Given the description of an element on the screen output the (x, y) to click on. 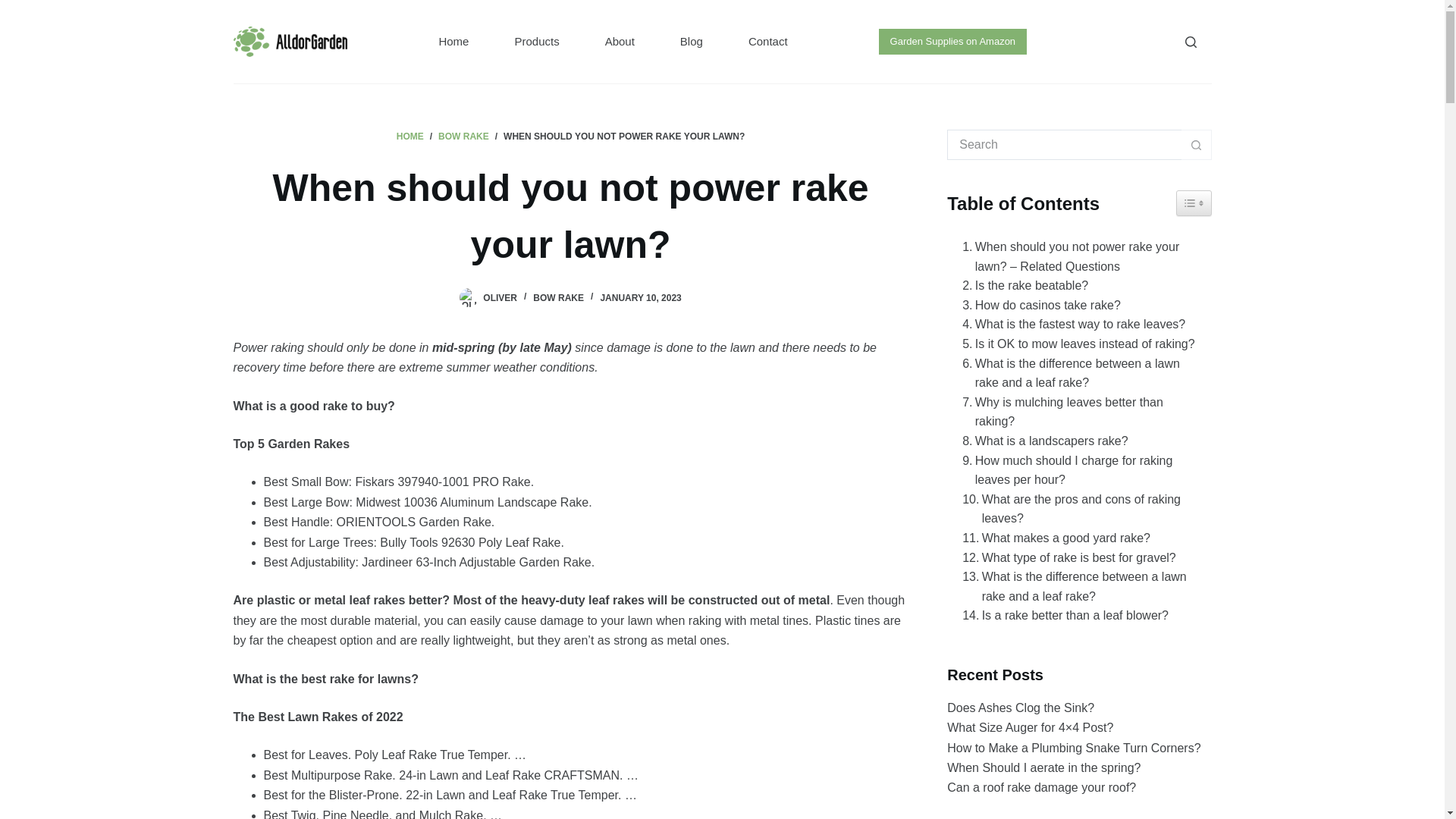
Search for... (1063, 144)
Products (536, 41)
Home (453, 41)
About (620, 41)
What is the fastest way to rake leaves? (1070, 324)
How do casinos take rake? (1038, 305)
Skip to content (15, 7)
HOME (409, 136)
Is it OK to mow leaves instead of raking? (1074, 343)
OLIVER (499, 297)
